Given the description of an element on the screen output the (x, y) to click on. 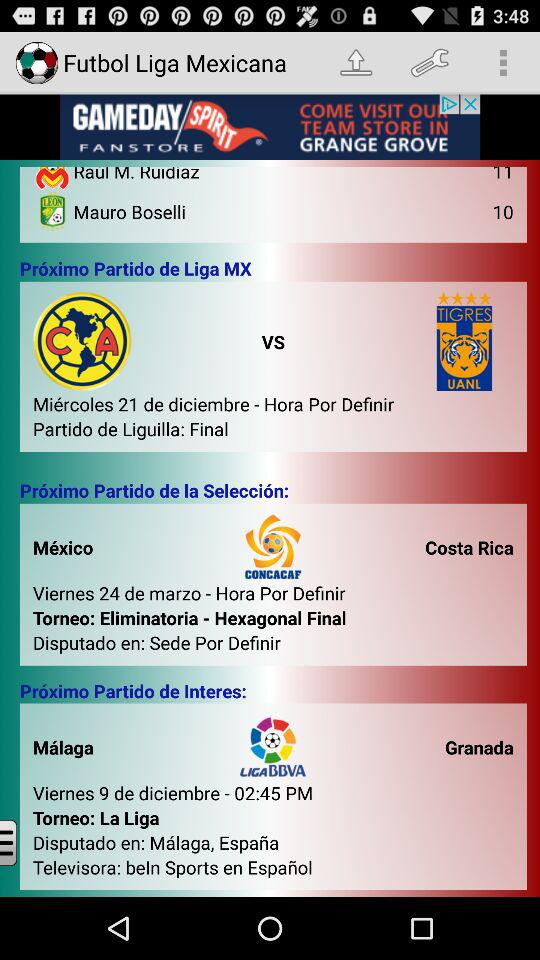
advertisement (270, 127)
